Given the description of an element on the screen output the (x, y) to click on. 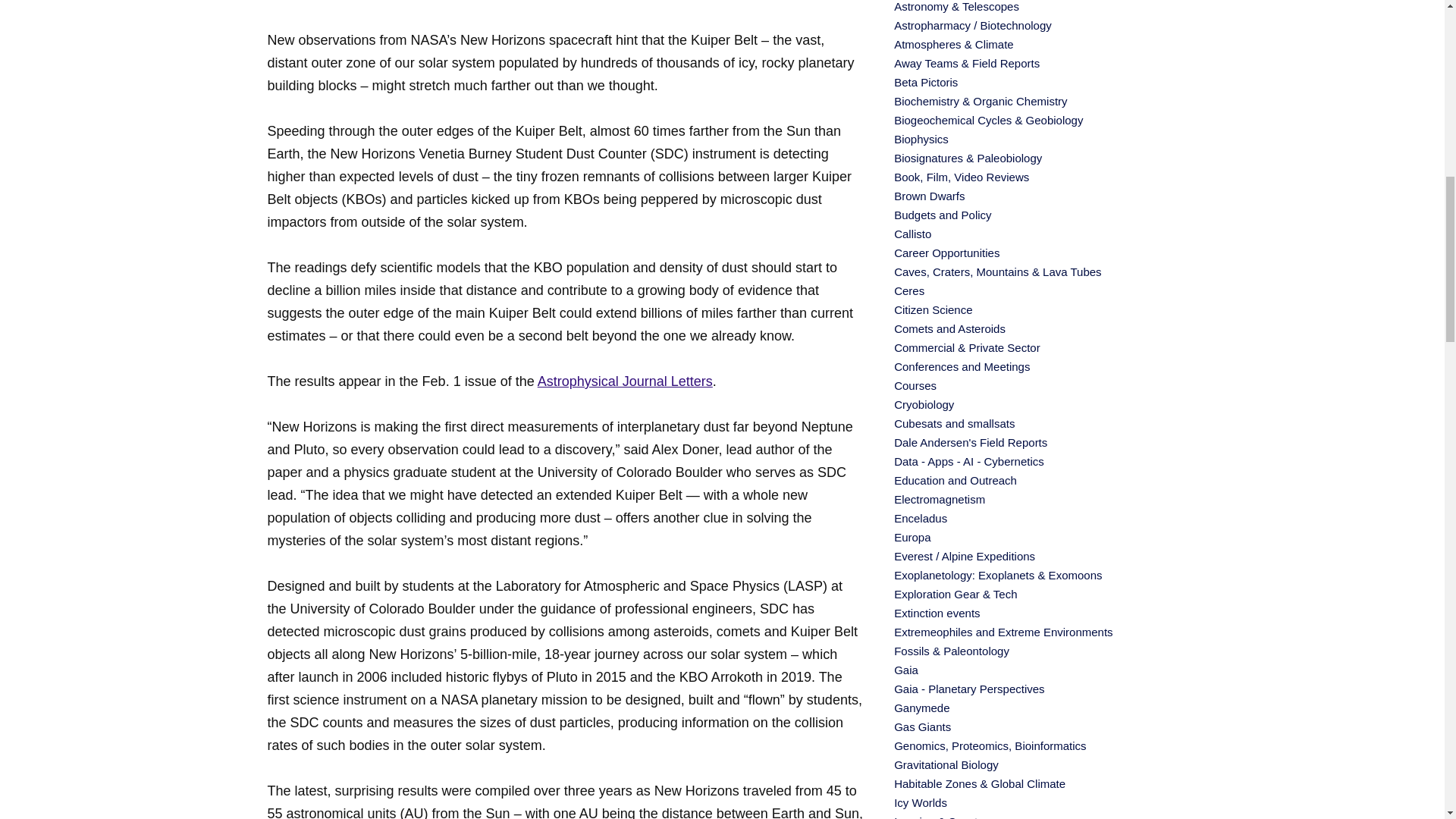
Astrophysical Journal Letters (625, 381)
